Given the description of an element on the screen output the (x, y) to click on. 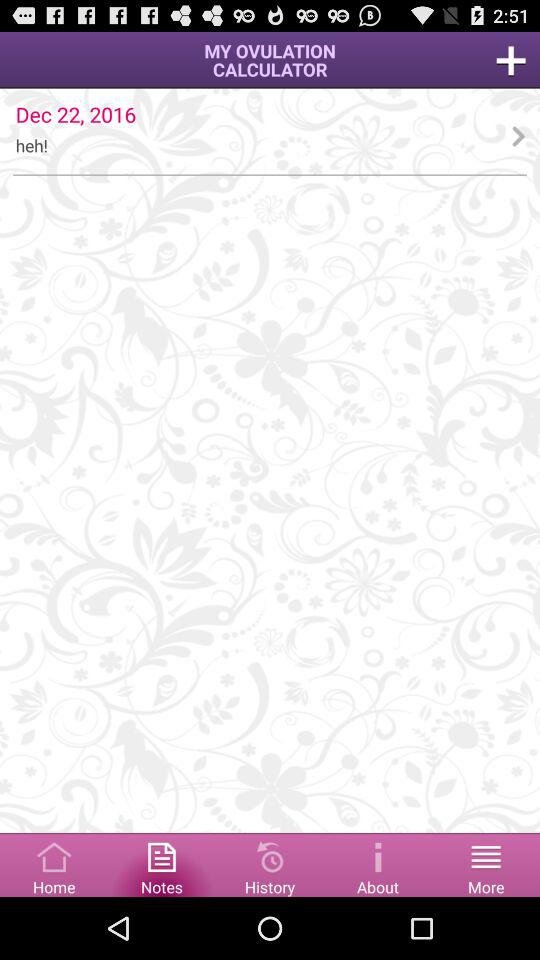
add option (511, 60)
